Given the description of an element on the screen output the (x, y) to click on. 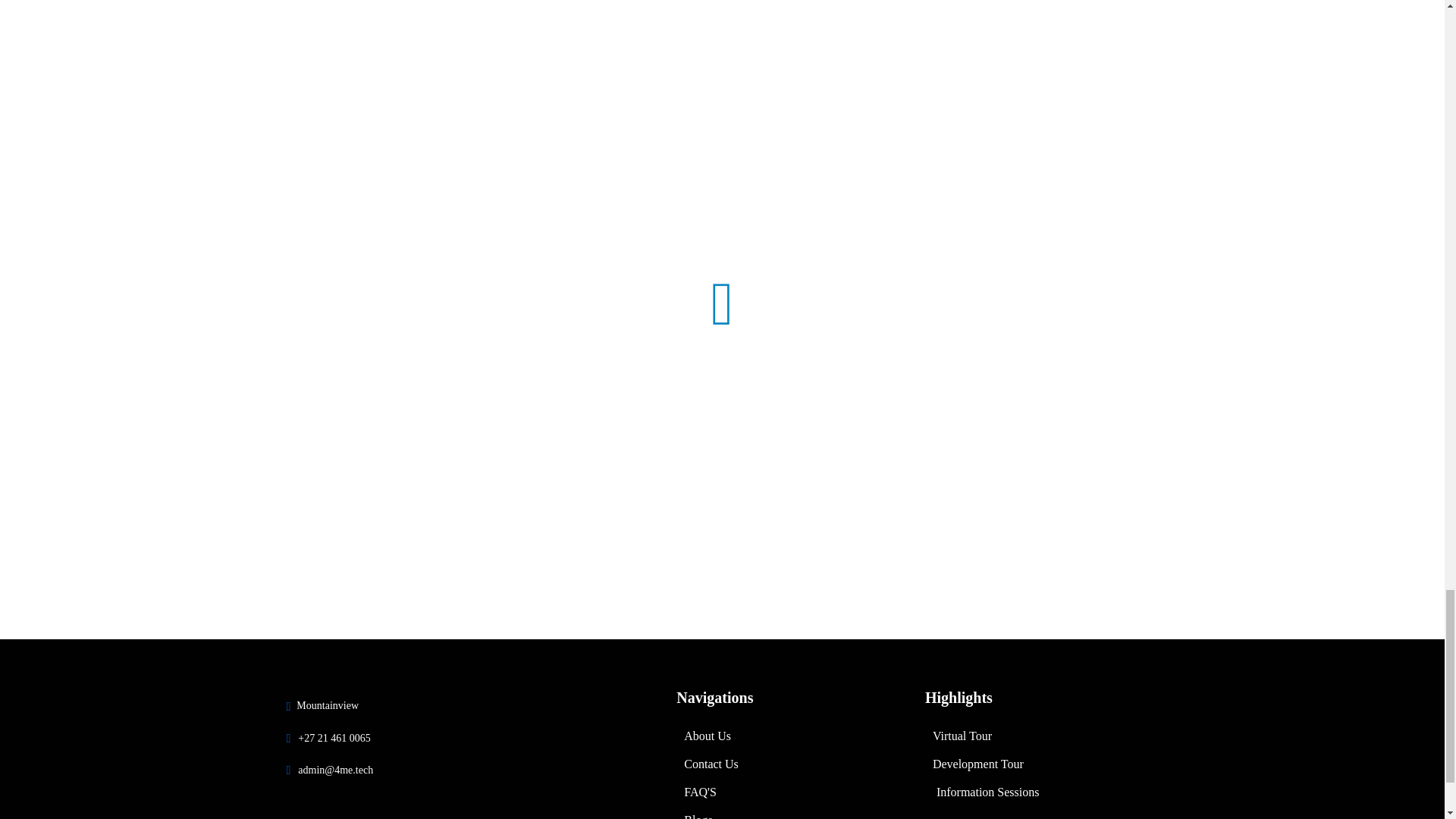
Contact Us (793, 764)
Information Sessions (1041, 791)
About Us (793, 735)
FAQ'S (793, 791)
Blogs (793, 812)
Virtual Tour (1041, 735)
Development Tour (1041, 764)
